Given the description of an element on the screen output the (x, y) to click on. 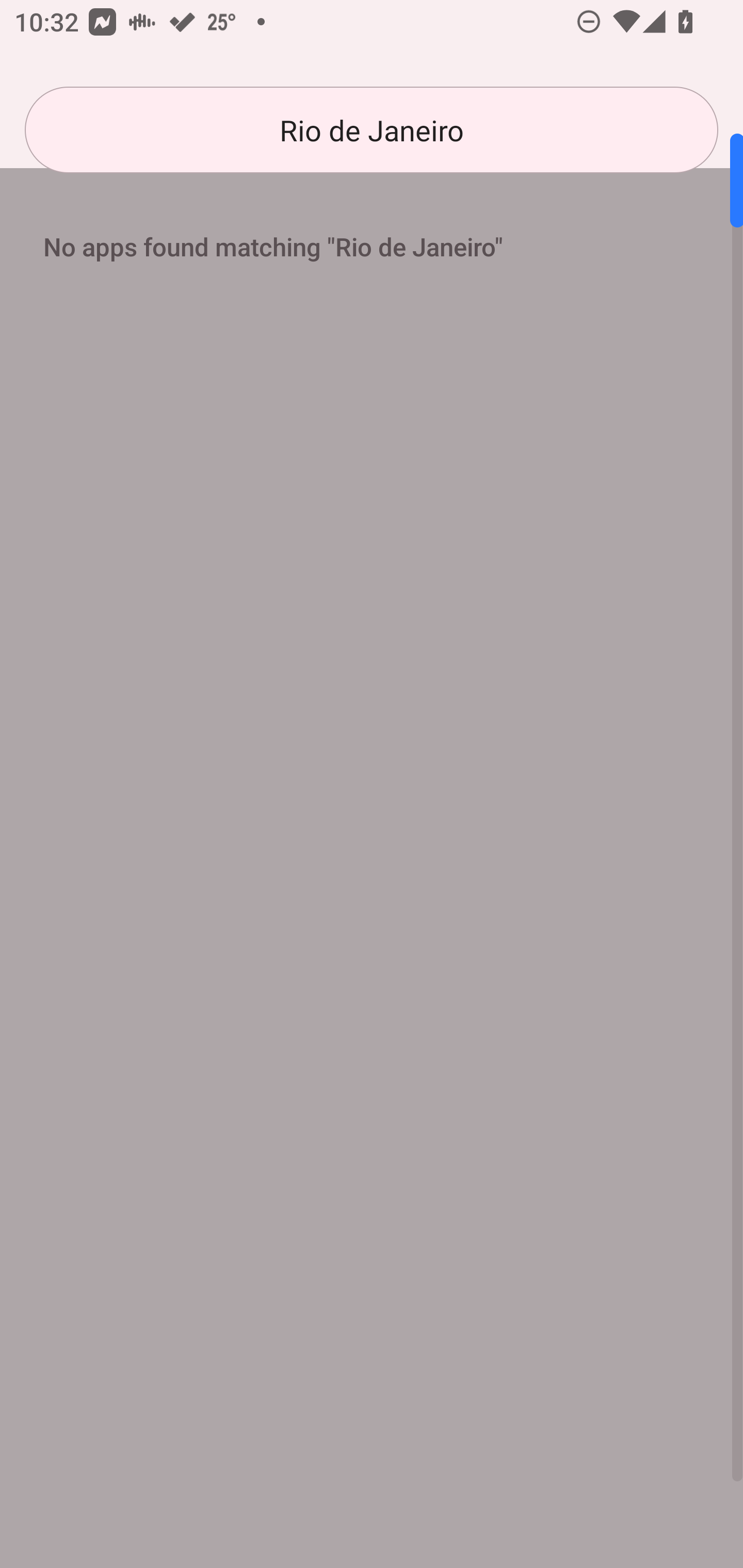
Rio de Janeiro (371, 130)
